Given the description of an element on the screen output the (x, y) to click on. 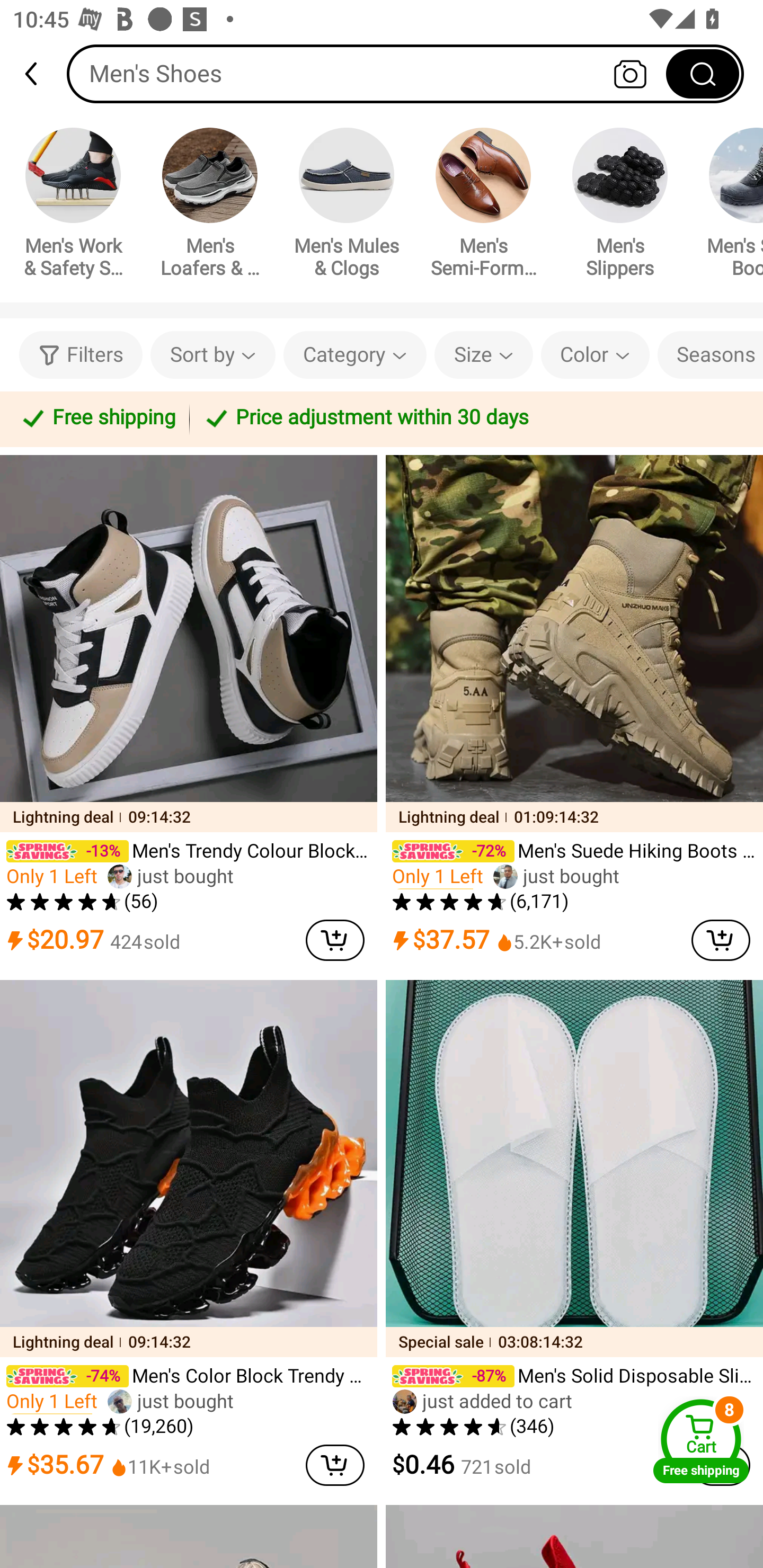
back (39, 73)
Men's Shoes (405, 73)
Men's Work & Safety Shoes (73, 205)
Men's Loafers & Slip-Ons (209, 205)
Men's Mules & Clogs (346, 205)
Men's Semi-Formal Shoes (483, 205)
Men's Slippers (619, 205)
Men's Snow Boots (728, 205)
Filters (80, 354)
Sort by (212, 354)
Category (354, 354)
Size (483, 354)
Color (594, 354)
Free shipping (97, 418)
Price adjustment within 30 days (472, 418)
cart delete (334, 939)
cart delete (720, 939)
Cart Free shipping Cart (701, 1440)
cart delete (334, 1465)
